Given the description of an element on the screen output the (x, y) to click on. 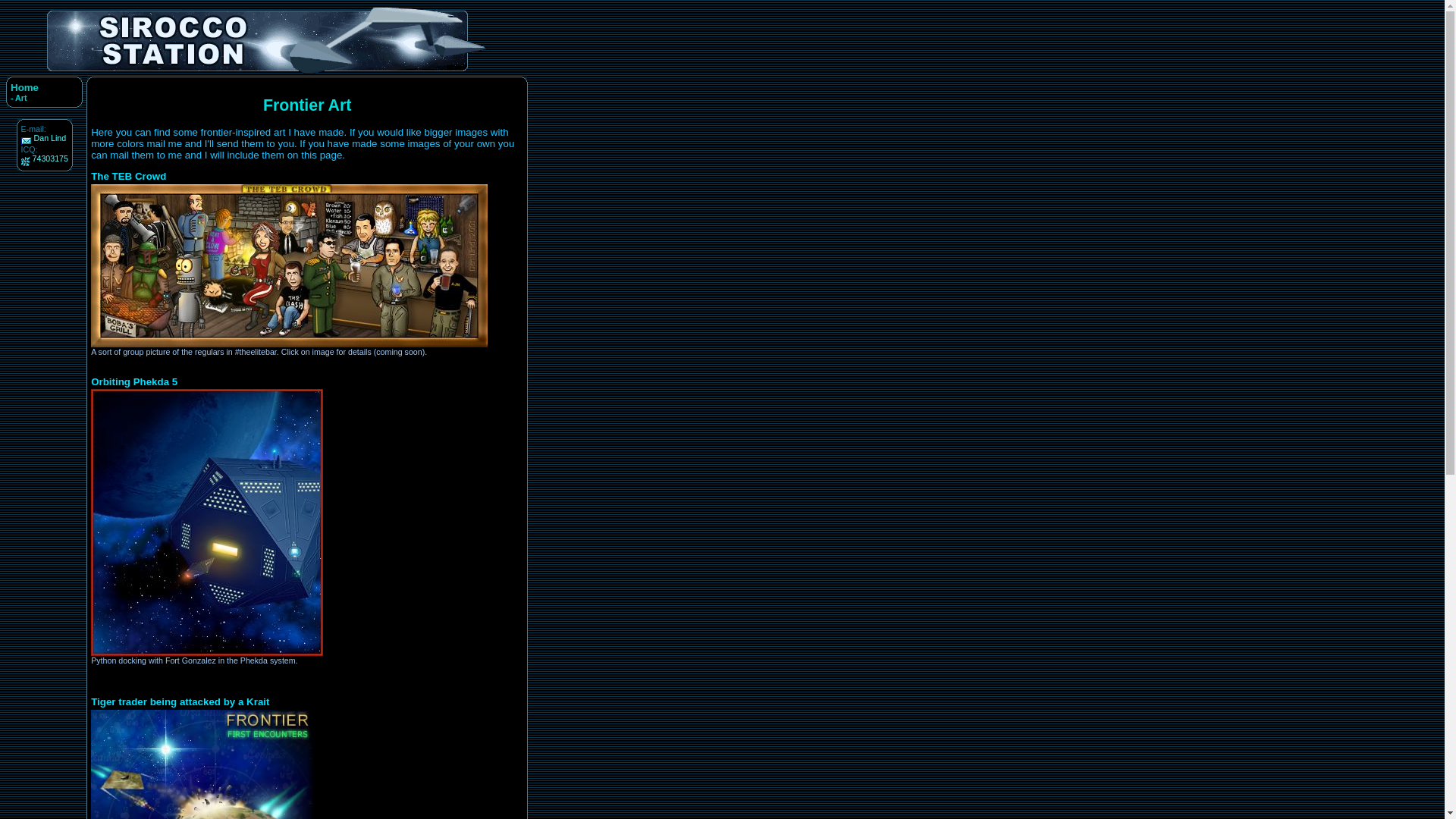
74303175 (50, 157)
- Art (18, 97)
Home (24, 87)
Dan Lind (49, 137)
